Given the description of an element on the screen output the (x, y) to click on. 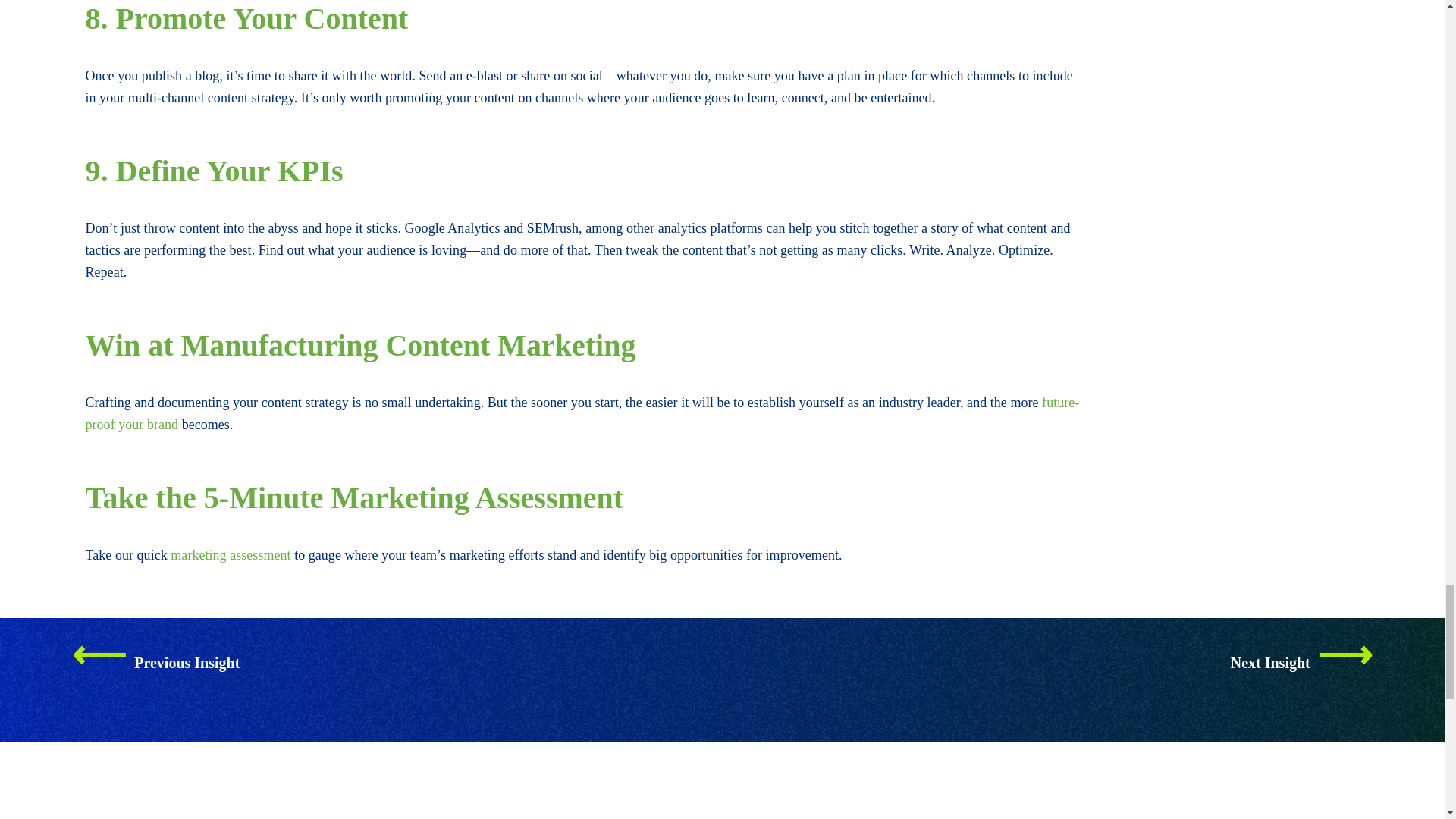
Previous Insight (155, 662)
marketing assessment (232, 554)
future-proof your brand (581, 413)
Next Insight (1301, 662)
